Given the description of an element on the screen output the (x, y) to click on. 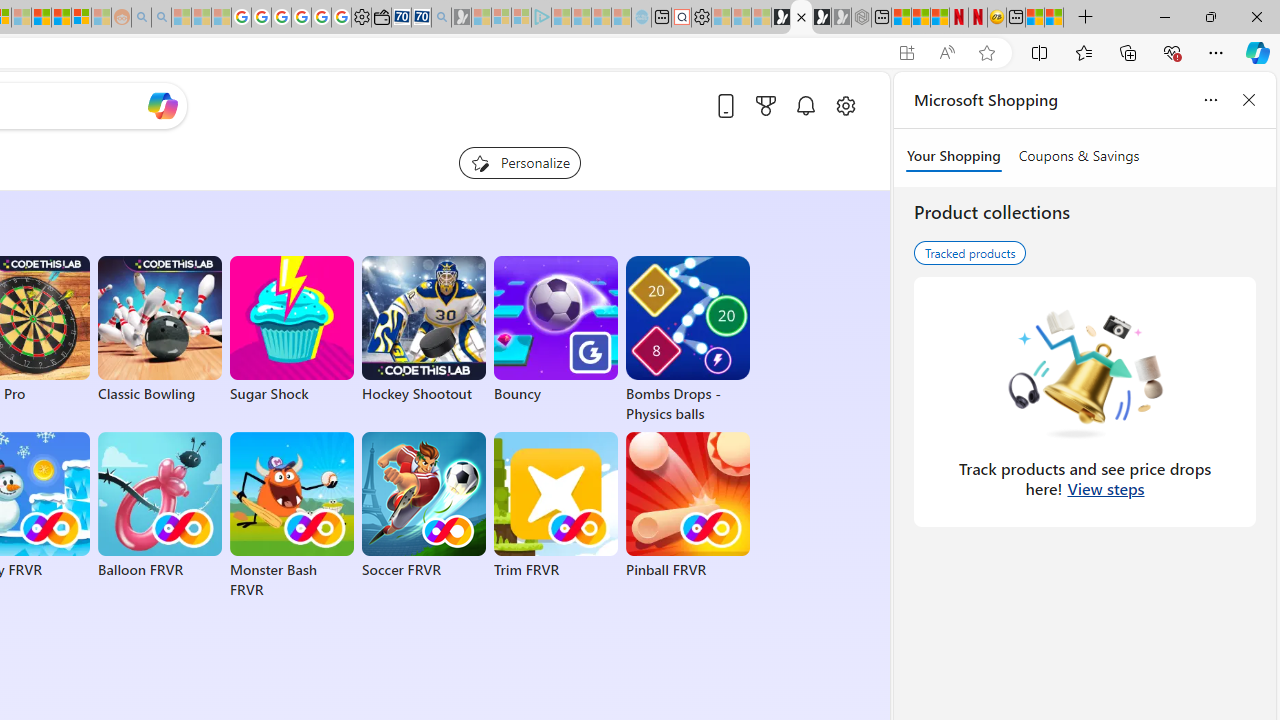
Sugar Shock (292, 329)
Wildlife - MSN (1035, 17)
